Given the description of an element on the screen output the (x, y) to click on. 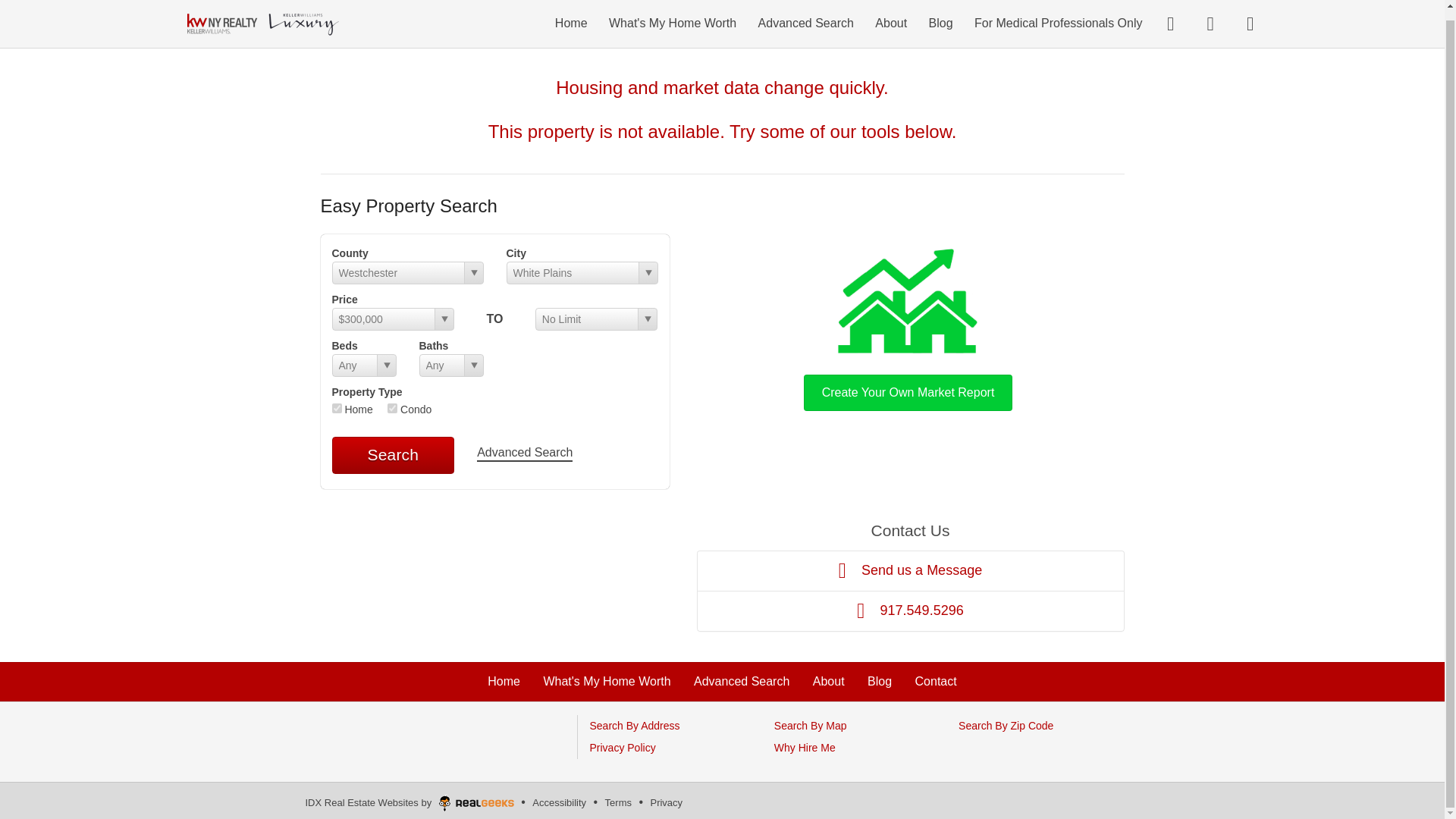
What's My Home Worth (672, 13)
About (891, 13)
Advanced Search (524, 453)
Search (392, 454)
Home (571, 13)
Send us a Message (909, 570)
Search By Address (634, 725)
What's My Home Worth (606, 680)
Privacy (665, 802)
Advanced Search (741, 680)
